Given the description of an element on the screen output the (x, y) to click on. 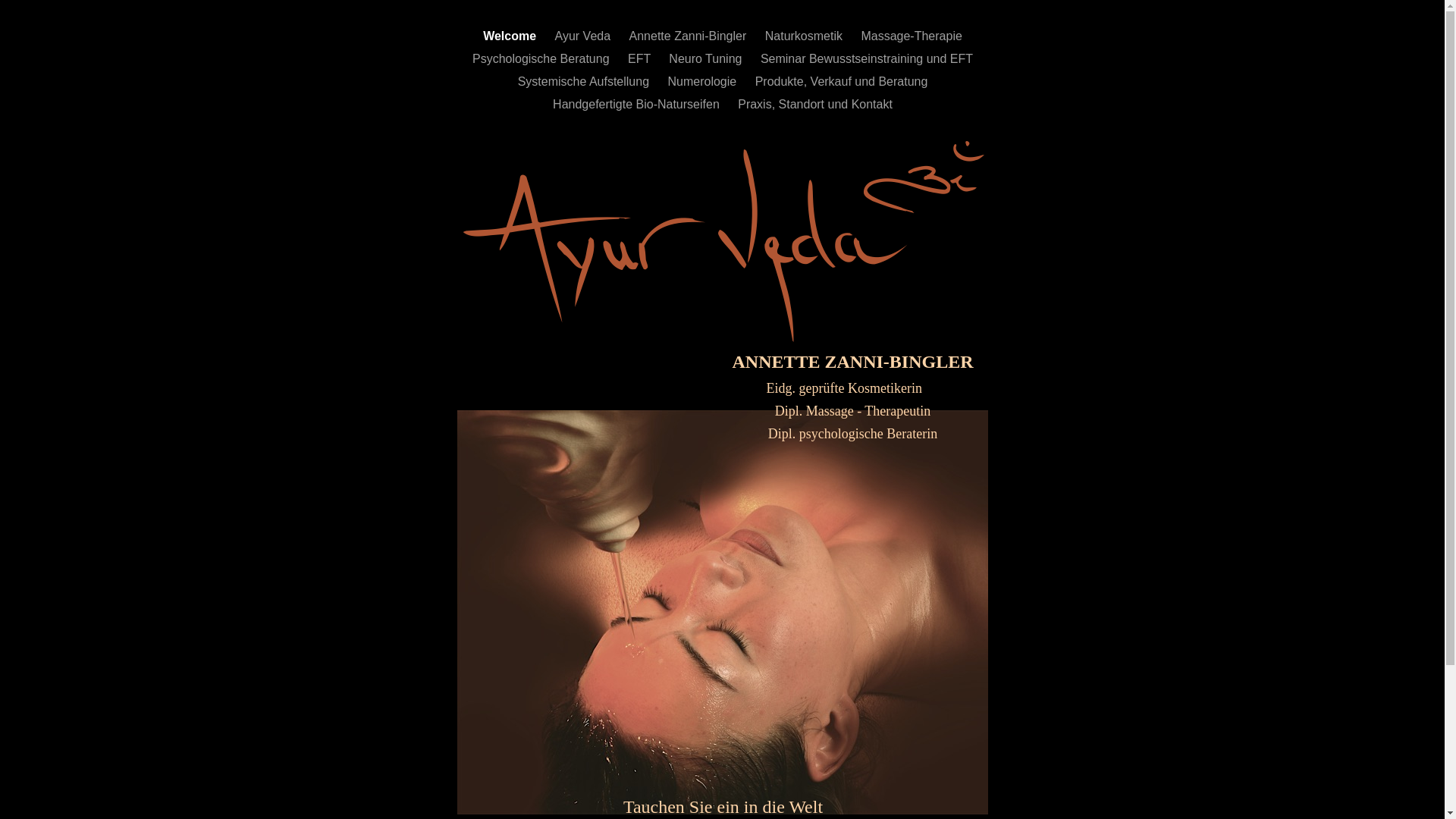
Naturkosmetik Element type: text (805, 35)
Neuro Tuning Element type: text (706, 58)
Handgefertigte Bio-Naturseifen Element type: text (637, 103)
Psychologische Beratung Element type: text (542, 58)
Praxis, Standort und Kontakt Element type: text (814, 103)
EFT Element type: text (640, 58)
Ayur Veda Element type: text (584, 35)
Welcome Element type: text (511, 35)
Annette Zanni-Bingler Element type: text (689, 35)
Seminar Bewusstseinstraining und EFT Element type: text (866, 58)
Massage-Therapie Element type: text (910, 35)
Produkte, Verkauf und Beratung Element type: text (841, 81)
Systemische Aufstellung Element type: text (584, 81)
Numerologie Element type: text (703, 81)
